Given the description of an element on the screen output the (x, y) to click on. 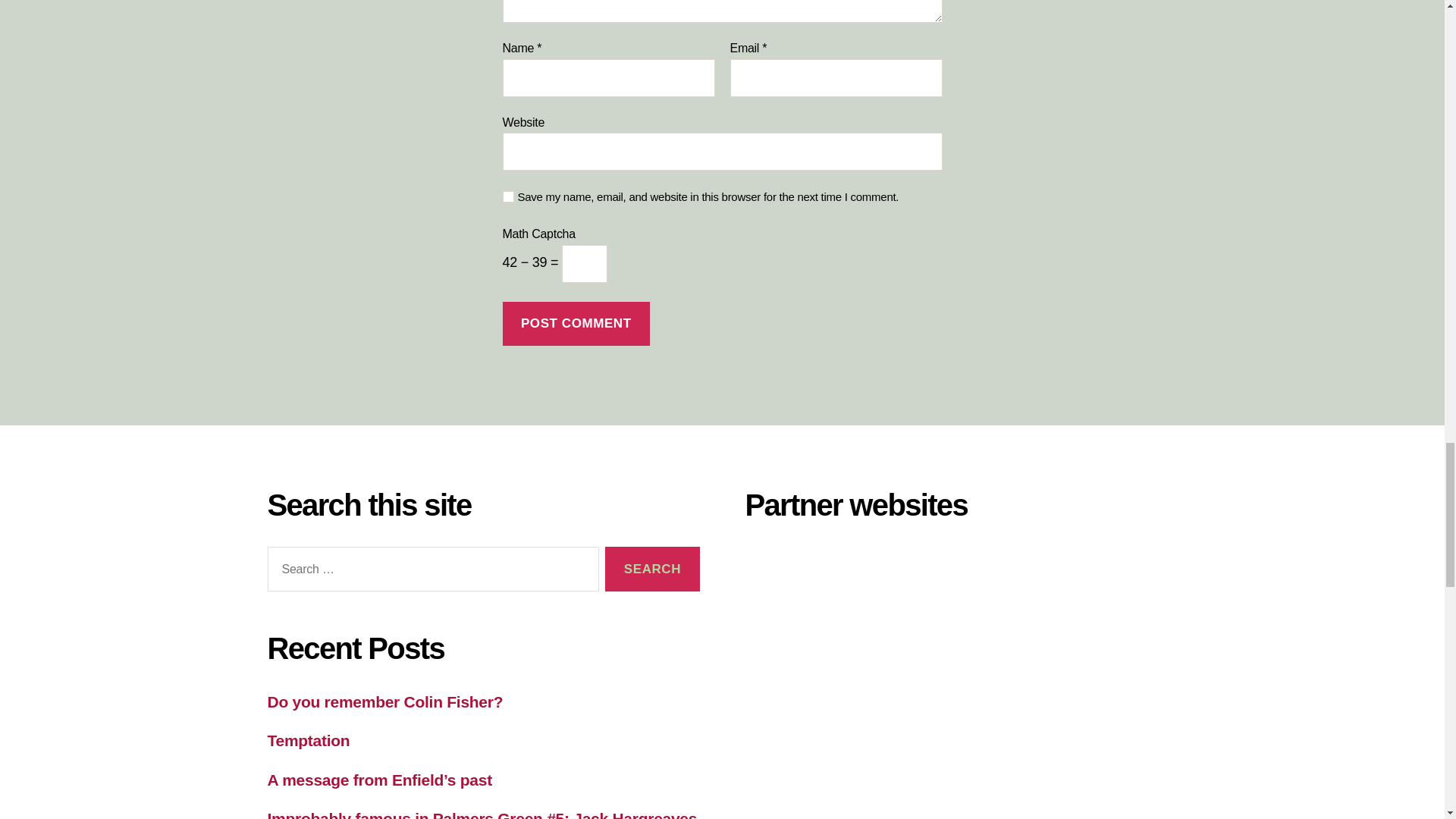
yes (507, 196)
Search (651, 569)
Post Comment (575, 324)
Search (651, 569)
